Given the description of an element on the screen output the (x, y) to click on. 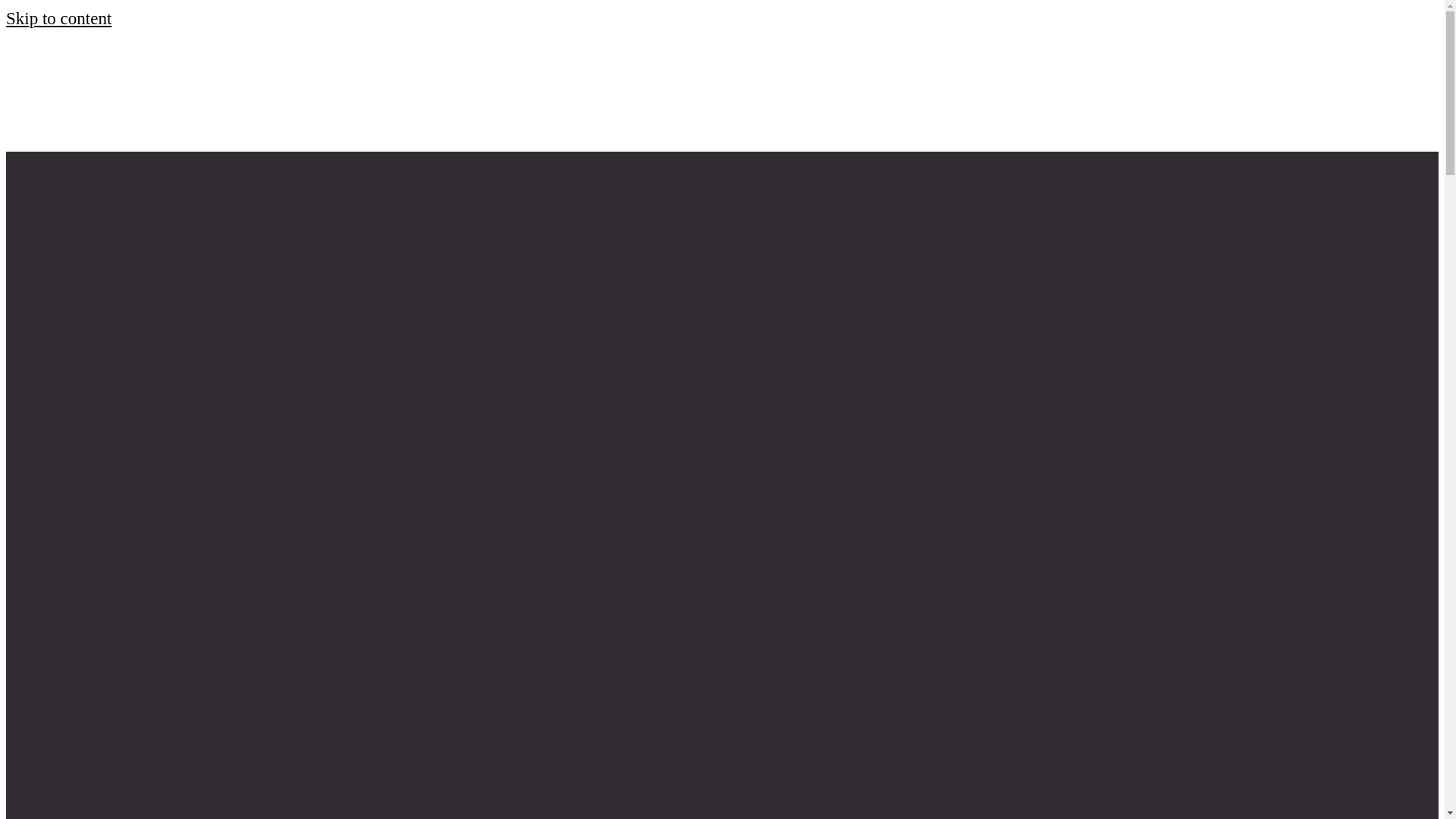
Skip to content (58, 18)
